Given the description of an element on the screen output the (x, y) to click on. 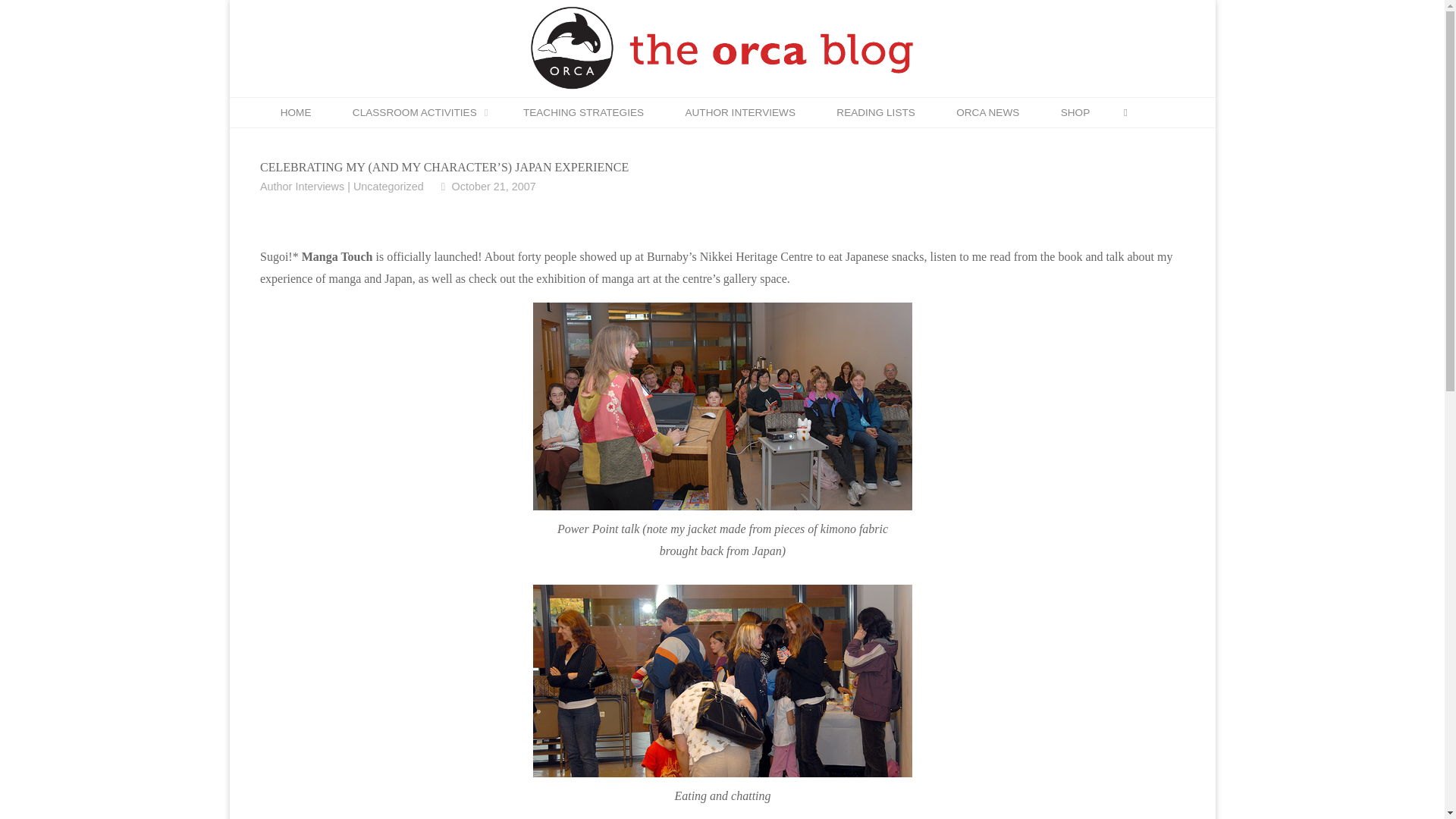
ORCA NEWS (987, 112)
CLASSROOM ACTIVITIES (416, 112)
READING LISTS (875, 112)
AUTHOR INTERVIEWS (739, 112)
Jacqui1 (721, 406)
HOME (295, 112)
Jacqui2 (721, 680)
TEACHING STRATEGIES (583, 112)
